Given the description of an element on the screen output the (x, y) to click on. 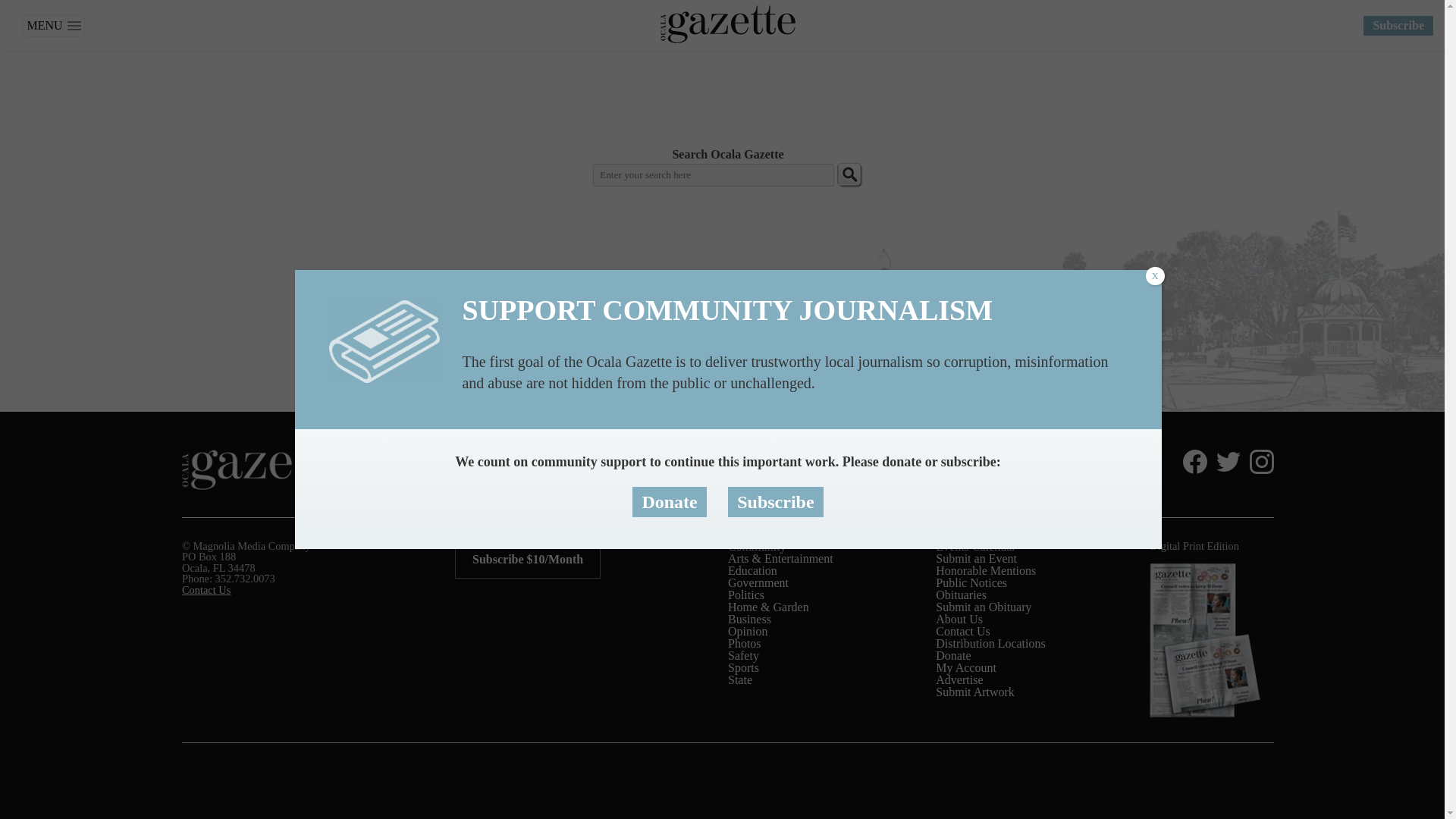
Follow Heart of Florida Health Center on Instagram (1258, 461)
Follow Heart of Florida Health Center on Twitter (1224, 461)
Twitter icon (1227, 461)
Instagram icon (1261, 461)
Follow Heart of Florida Health Center on Facebook (1191, 461)
Facebook icon (1194, 461)
